Given the description of an element on the screen output the (x, y) to click on. 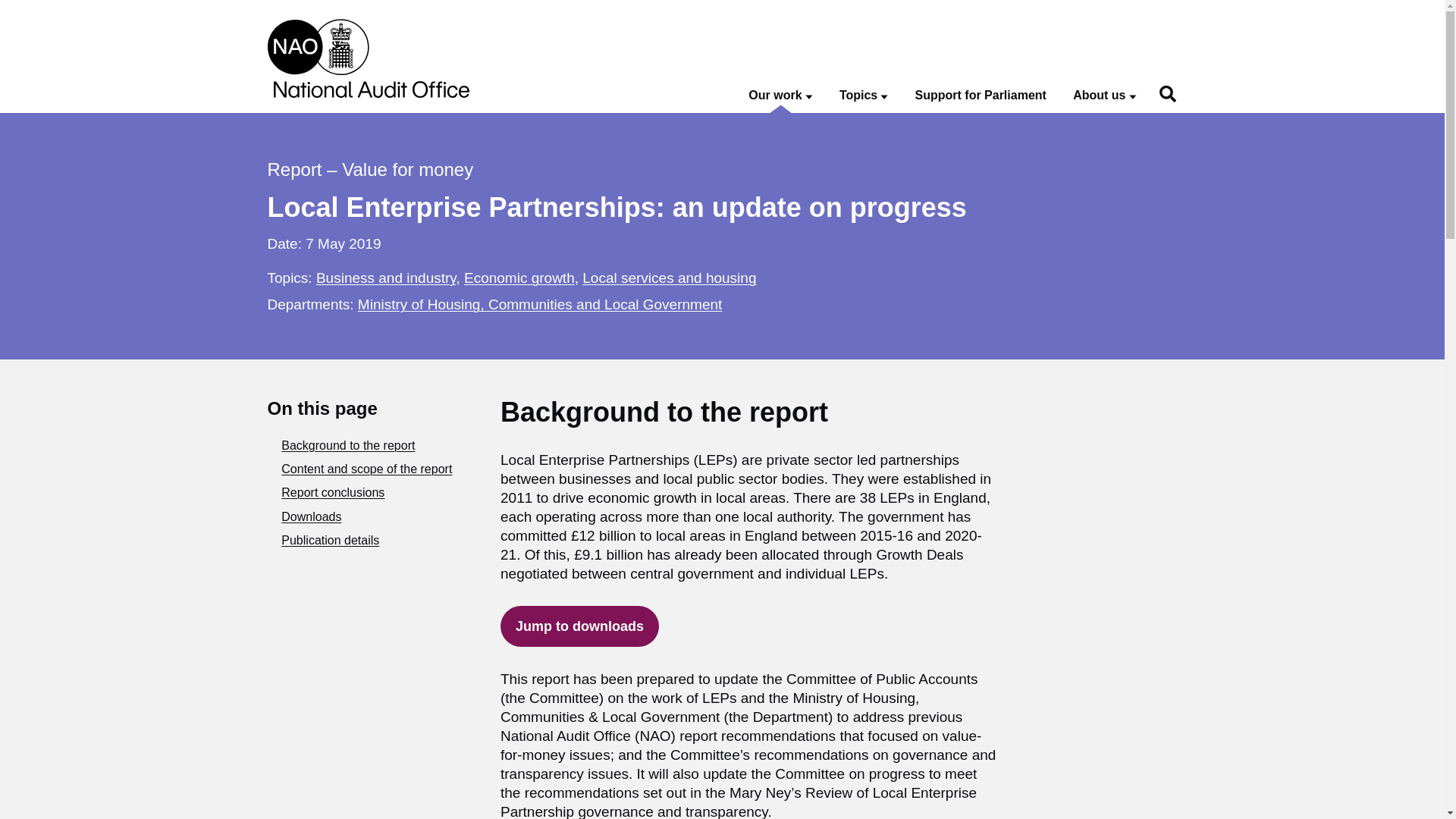
About us (1104, 95)
Our work (780, 95)
Topics (864, 95)
Support for Parliament (980, 95)
Skip to main content (11, 7)
